Given the description of an element on the screen output the (x, y) to click on. 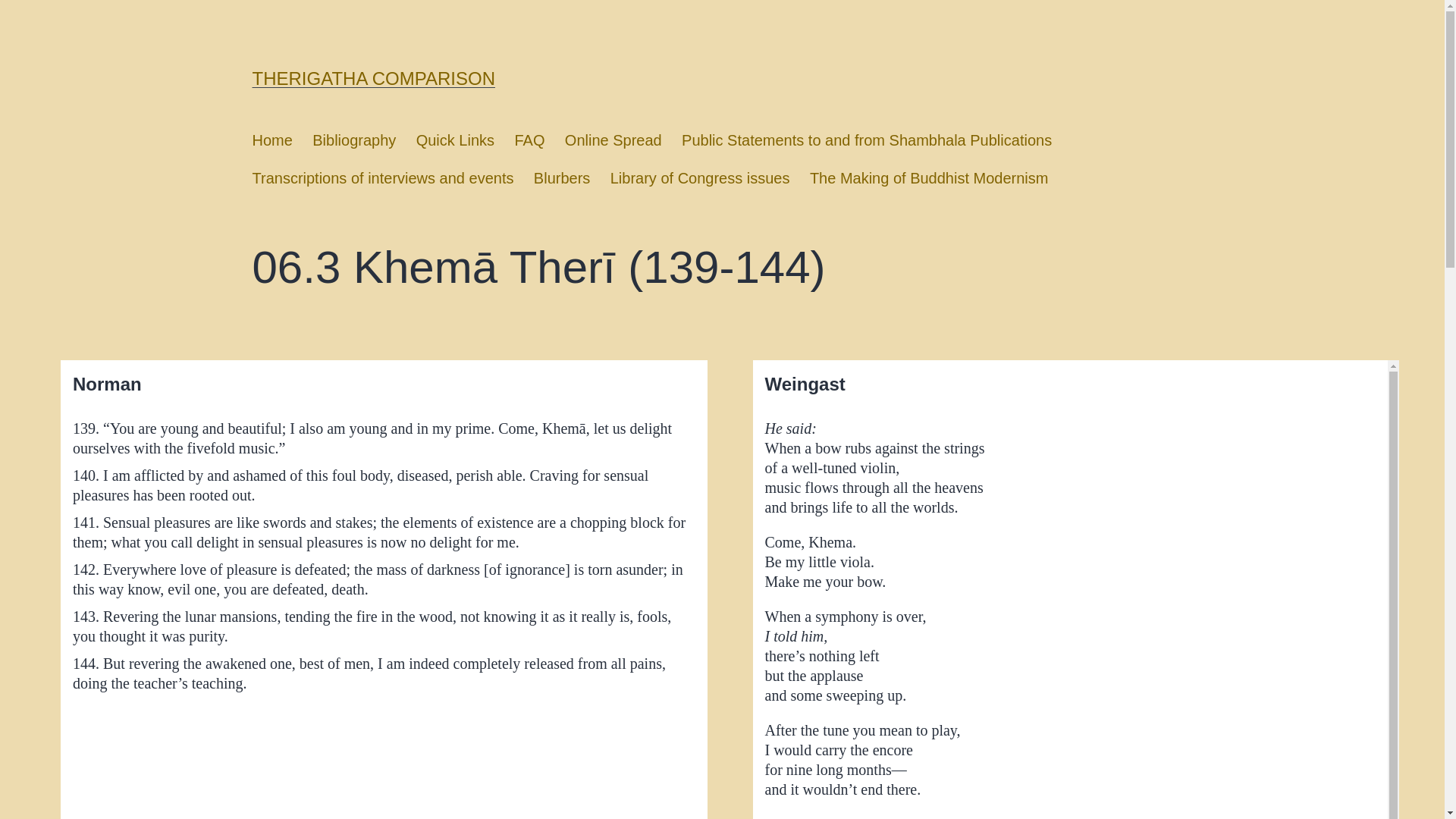
Library of Congress issues (699, 178)
Bibliography (354, 140)
The Making of Buddhist Modernism (928, 178)
Public Statements to and from Shambhala Publications (866, 140)
Transcriptions of interviews and events (381, 178)
Home (271, 140)
Online Spread (612, 140)
FAQ (528, 140)
Quick Links (455, 140)
Blurbers (561, 178)
